Given the description of an element on the screen output the (x, y) to click on. 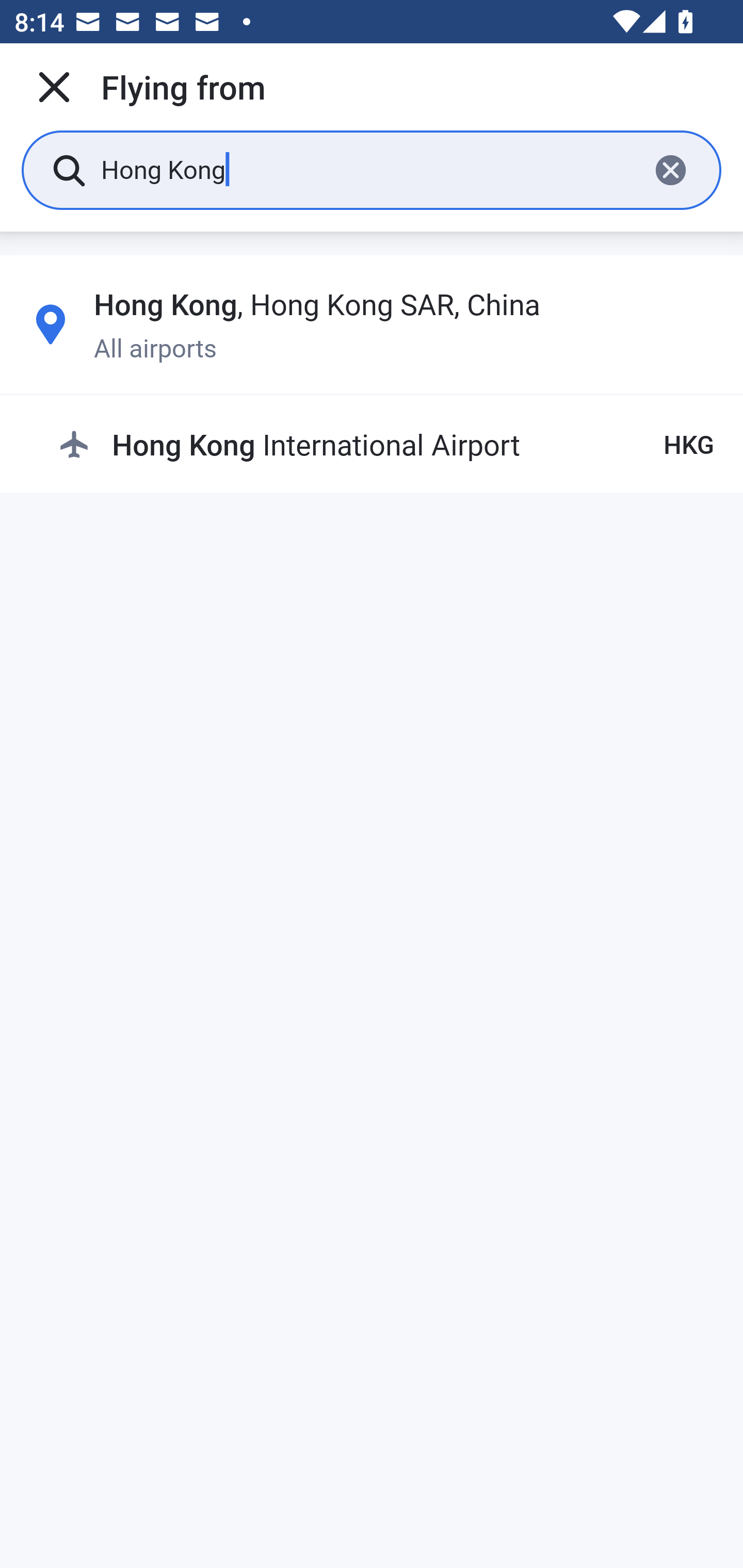
Hong Kong (367, 169)
Hong Kong, Hong Kong SAR, China All airports (371, 324)
Hong Kong International Airport HKG (385, 444)
